Given the description of an element on the screen output the (x, y) to click on. 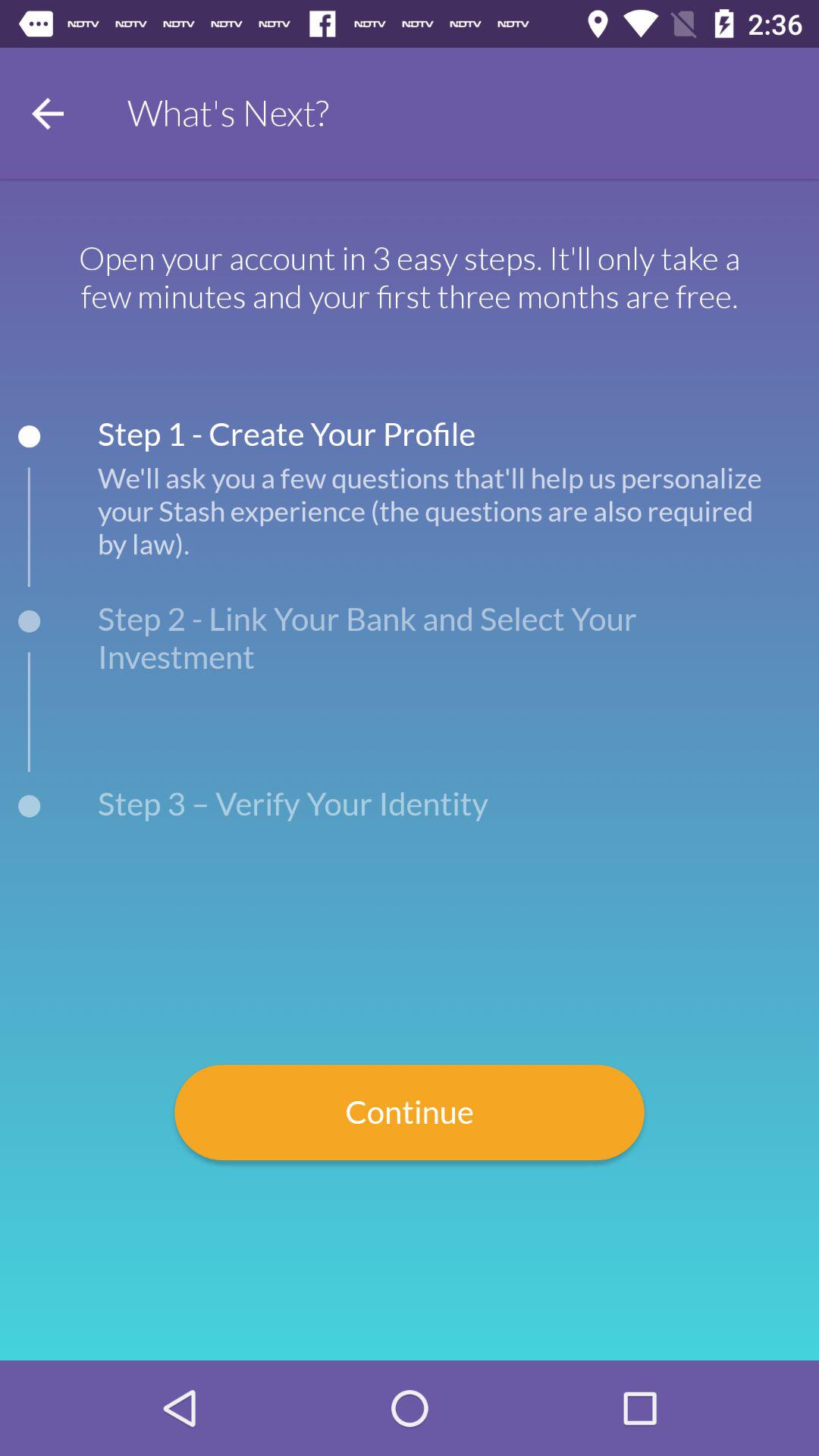
flip to continue (409, 1112)
